Given the description of an element on the screen output the (x, y) to click on. 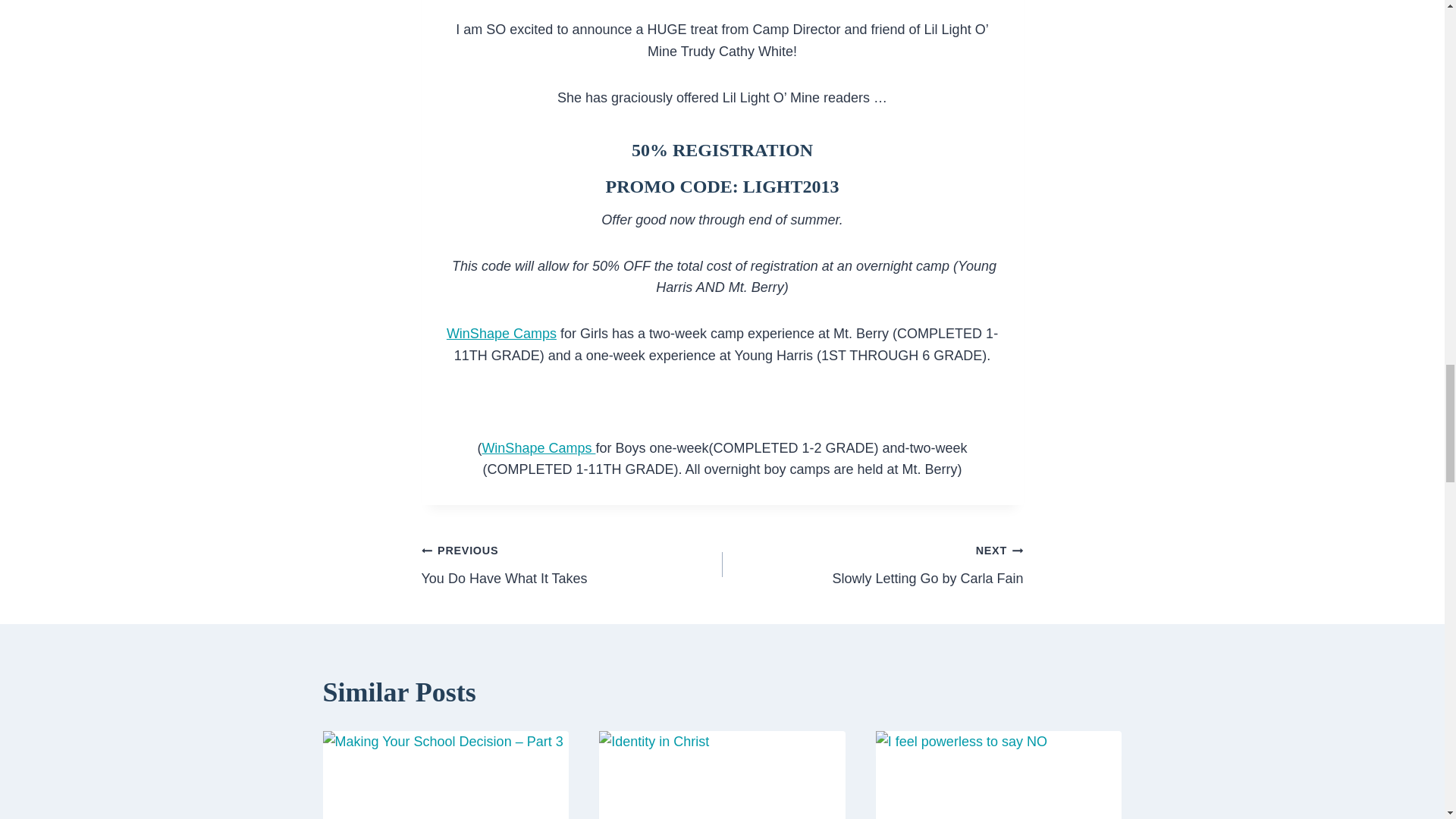
WinShape Camps  (538, 447)
WinShape Camps (501, 333)
PROMO CODE (872, 563)
